Given the description of an element on the screen output the (x, y) to click on. 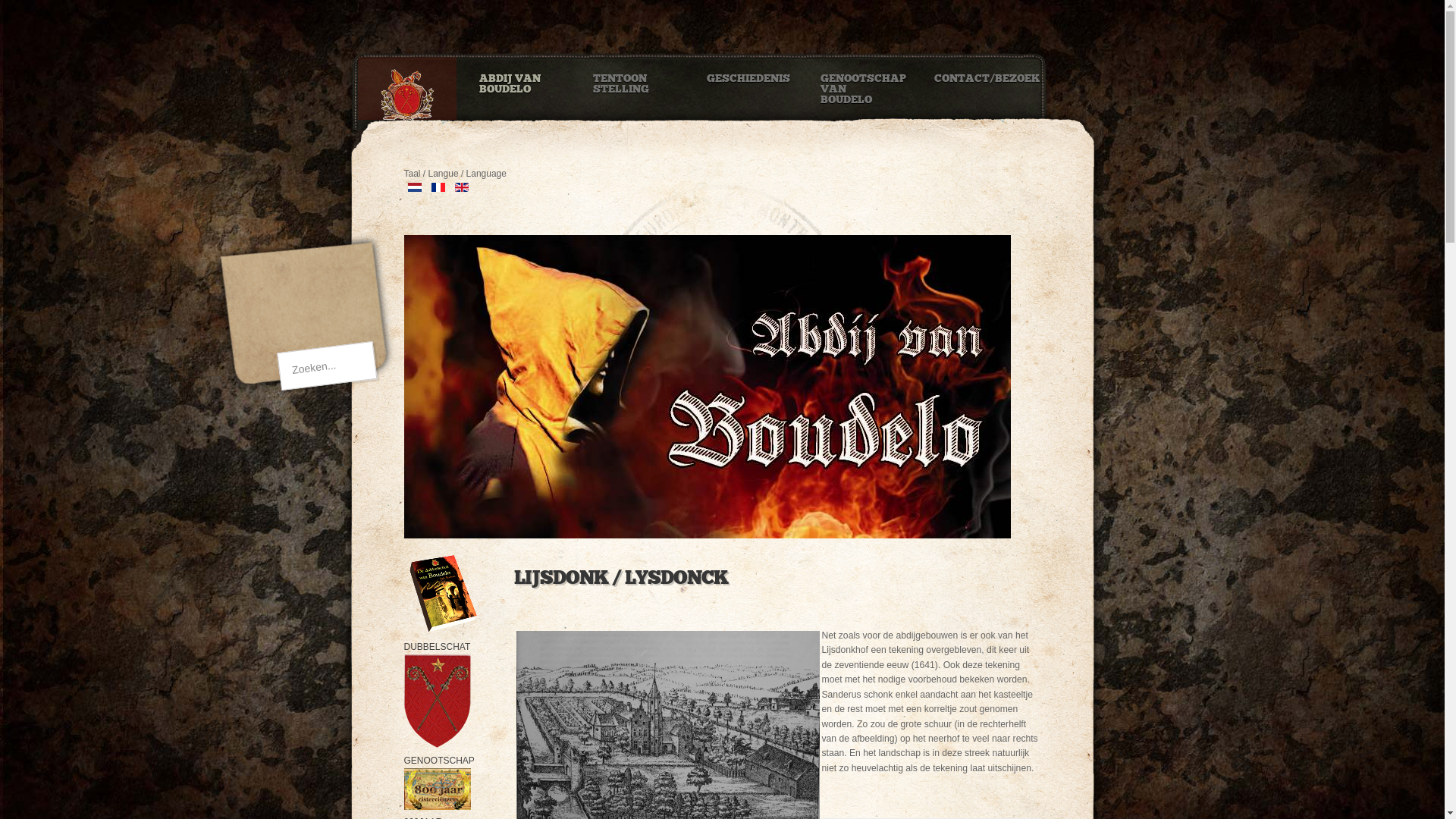
GENOOTSCHAP VAN BOUDELO Element type: text (854, 83)
English (UK) Element type: hover (461, 186)
CONTACT/BEZOEK Element type: text (968, 72)
logo Element type: text (278, 195)
Banner Boudelo Element type: hover (706, 535)
ABDIJ VAN BOUDELO Element type: text (513, 78)
DUBBELSCHAT Element type: text (441, 639)
GENOOTSCHAP Element type: text (438, 752)
TENTOON STELLING Element type: text (627, 78)
LIJSDONK / LYSDONCK Element type: text (621, 577)
GESCHIEDENIS Element type: text (740, 72)
Nederlands Element type: hover (414, 186)
